Given the description of an element on the screen output the (x, y) to click on. 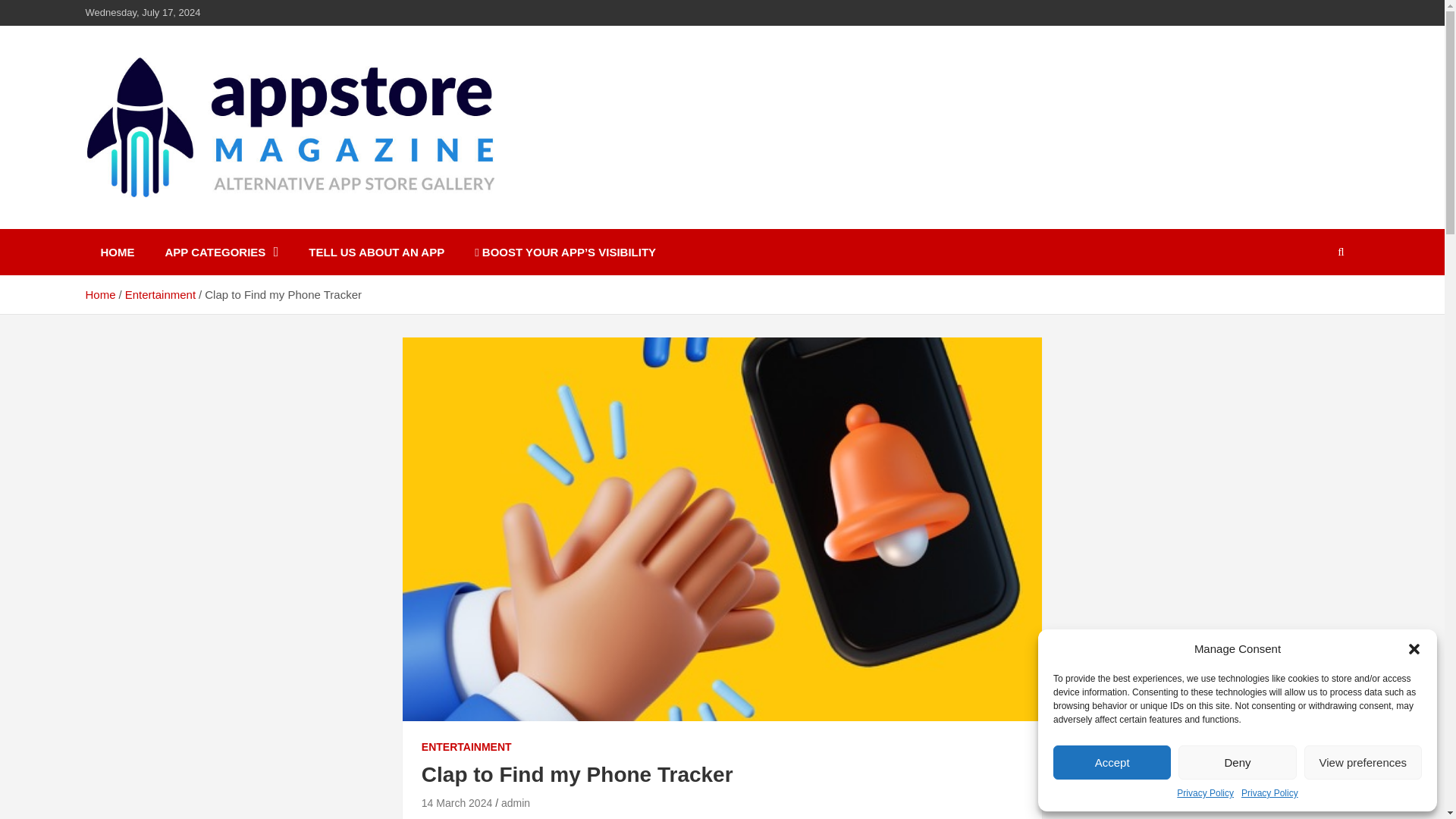
Clap to Find my Phone Tracker (457, 802)
APP CATEGORIES (221, 252)
Privacy Policy (1204, 793)
Accept (1111, 762)
Deny (1236, 762)
View preferences (1363, 762)
AppStore Magazine (225, 225)
HOME (116, 252)
Privacy Policy (1269, 793)
